Given the description of an element on the screen output the (x, y) to click on. 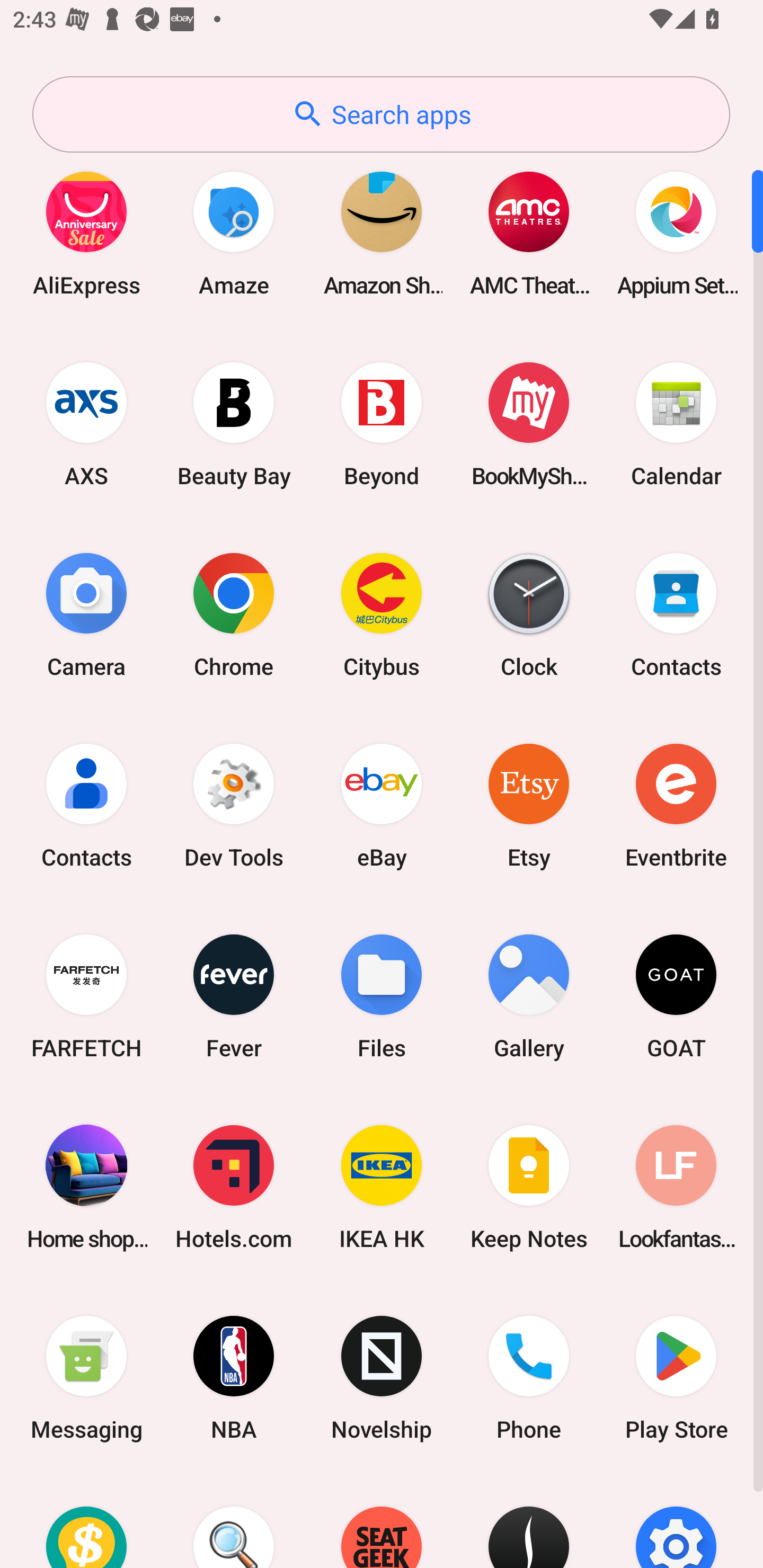
  Search apps (381, 114)
AliExpress (86, 233)
Amaze (233, 233)
Amazon Shopping (381, 233)
AMC Theatres (528, 233)
Appium Settings (676, 233)
AXS (86, 424)
Beauty Bay (233, 424)
Beyond (381, 424)
BookMyShow (528, 424)
Calendar (676, 424)
Camera (86, 614)
Chrome (233, 614)
Citybus (381, 614)
Clock (528, 614)
Contacts (676, 614)
Contacts (86, 805)
Dev Tools (233, 805)
eBay (381, 805)
Etsy (528, 805)
Eventbrite (676, 805)
FARFETCH (86, 996)
Fever (233, 996)
Files (381, 996)
Gallery (528, 996)
GOAT (676, 996)
Home shopping (86, 1186)
Hotels.com (233, 1186)
IKEA HK (381, 1186)
Keep Notes (528, 1186)
Lookfantastic (676, 1186)
Messaging (86, 1377)
NBA (233, 1377)
Novelship (381, 1377)
Phone (528, 1377)
Play Store (676, 1377)
